Given the description of an element on the screen output the (x, y) to click on. 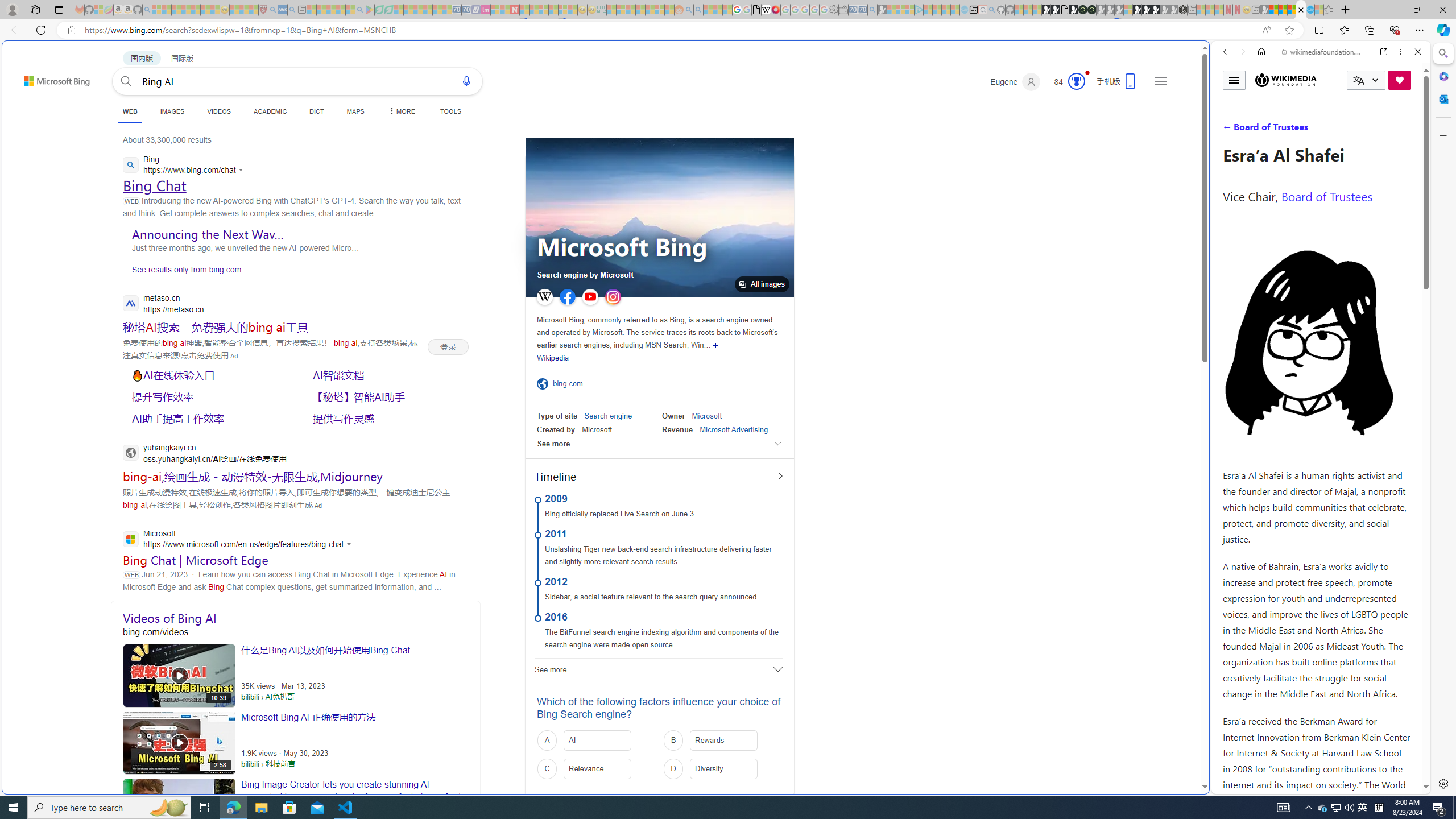
Close Customize pane (1442, 135)
Search more (1179, 753)
SERP,5521 (207, 418)
